Given the description of an element on the screen output the (x, y) to click on. 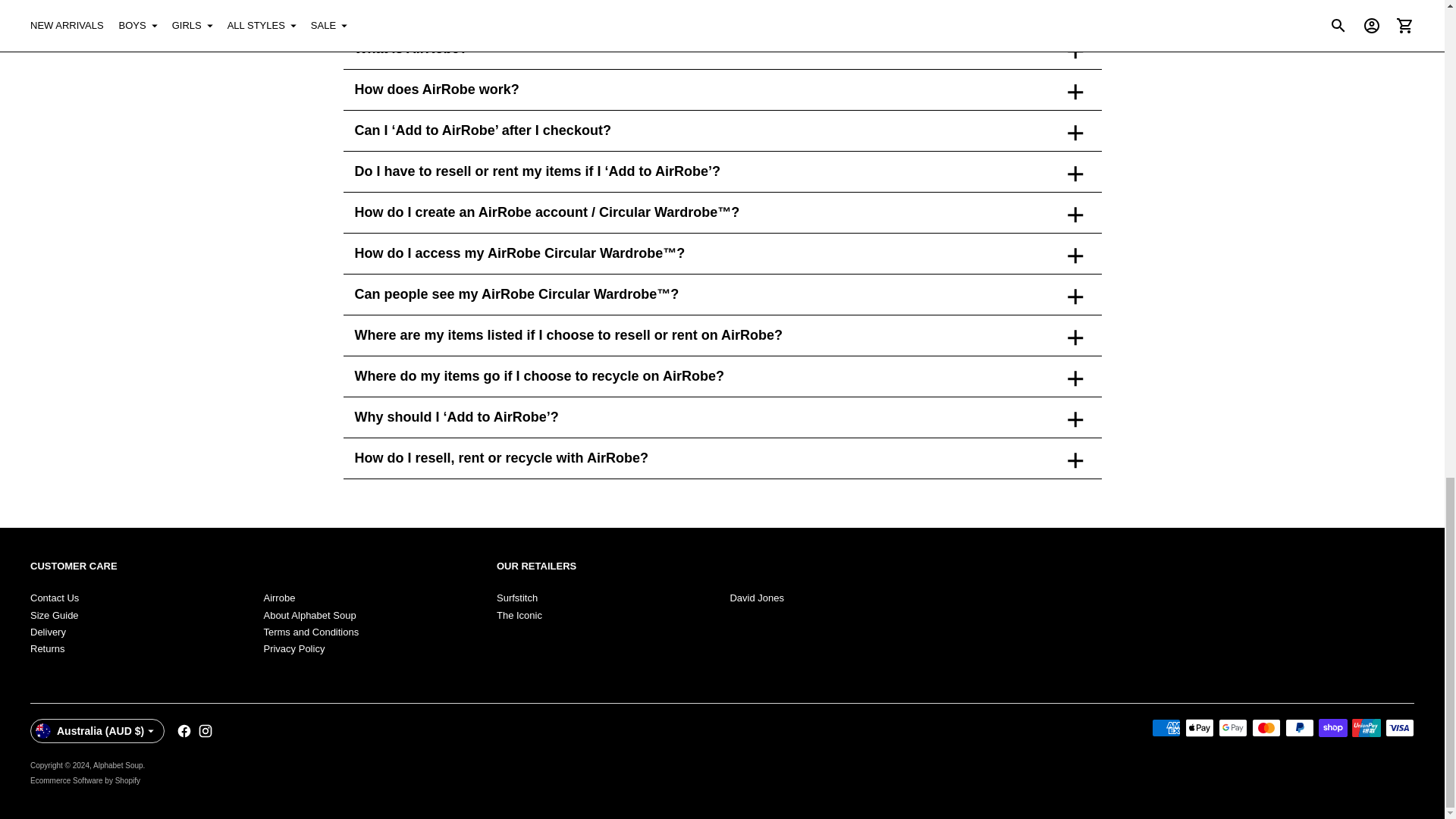
Alphabet Soup on Facebook (184, 730)
Alphabet Soup on Instagram (205, 730)
